Given the description of an element on the screen output the (x, y) to click on. 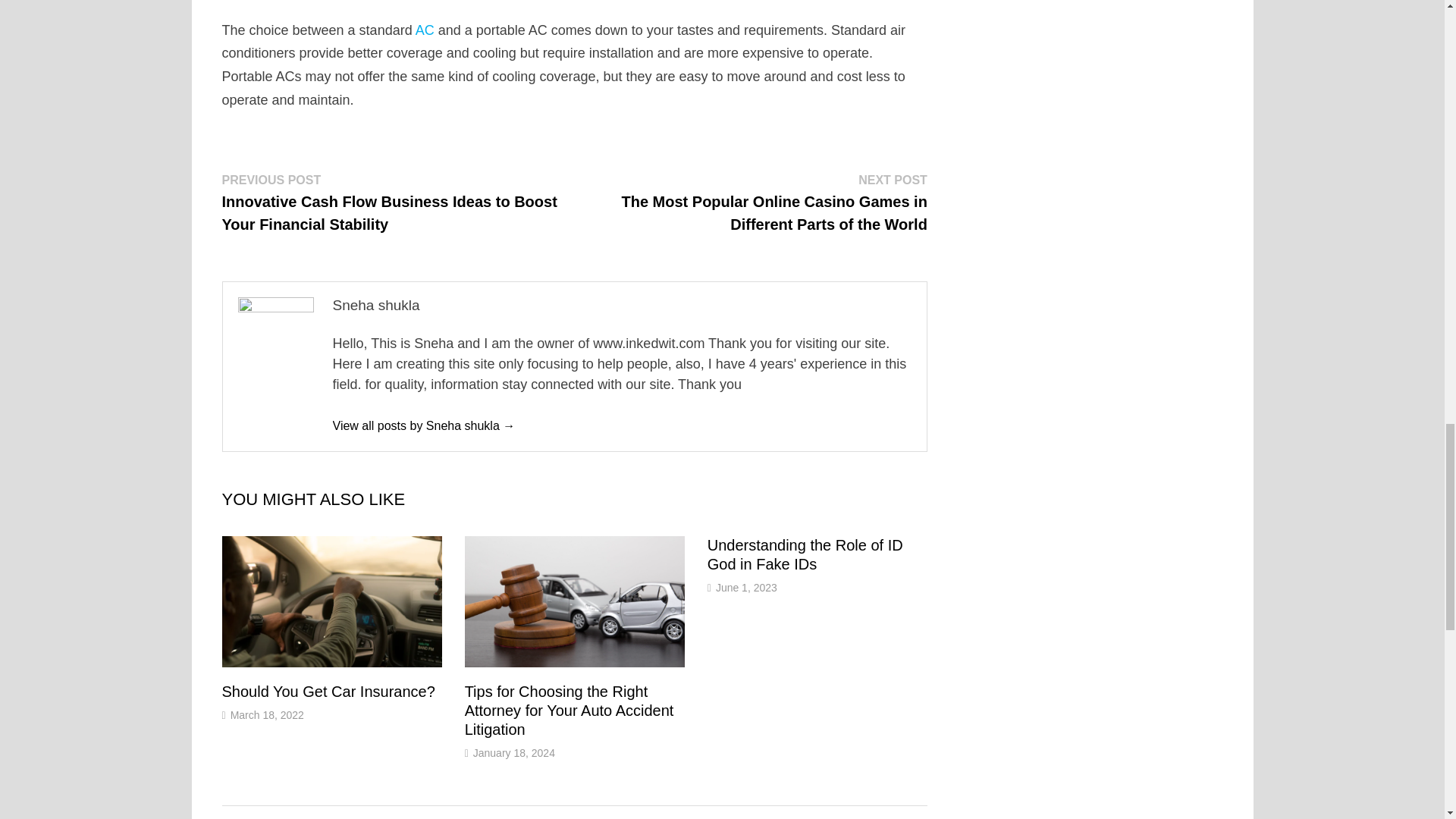
Should You Get Car Insurance? (327, 691)
Sneha shukla (423, 425)
Understanding the Role of ID God in Fake IDs (804, 554)
Should You Get Car Insurance? (327, 691)
March 18, 2022 (267, 715)
AC (423, 29)
